Given the description of an element on the screen output the (x, y) to click on. 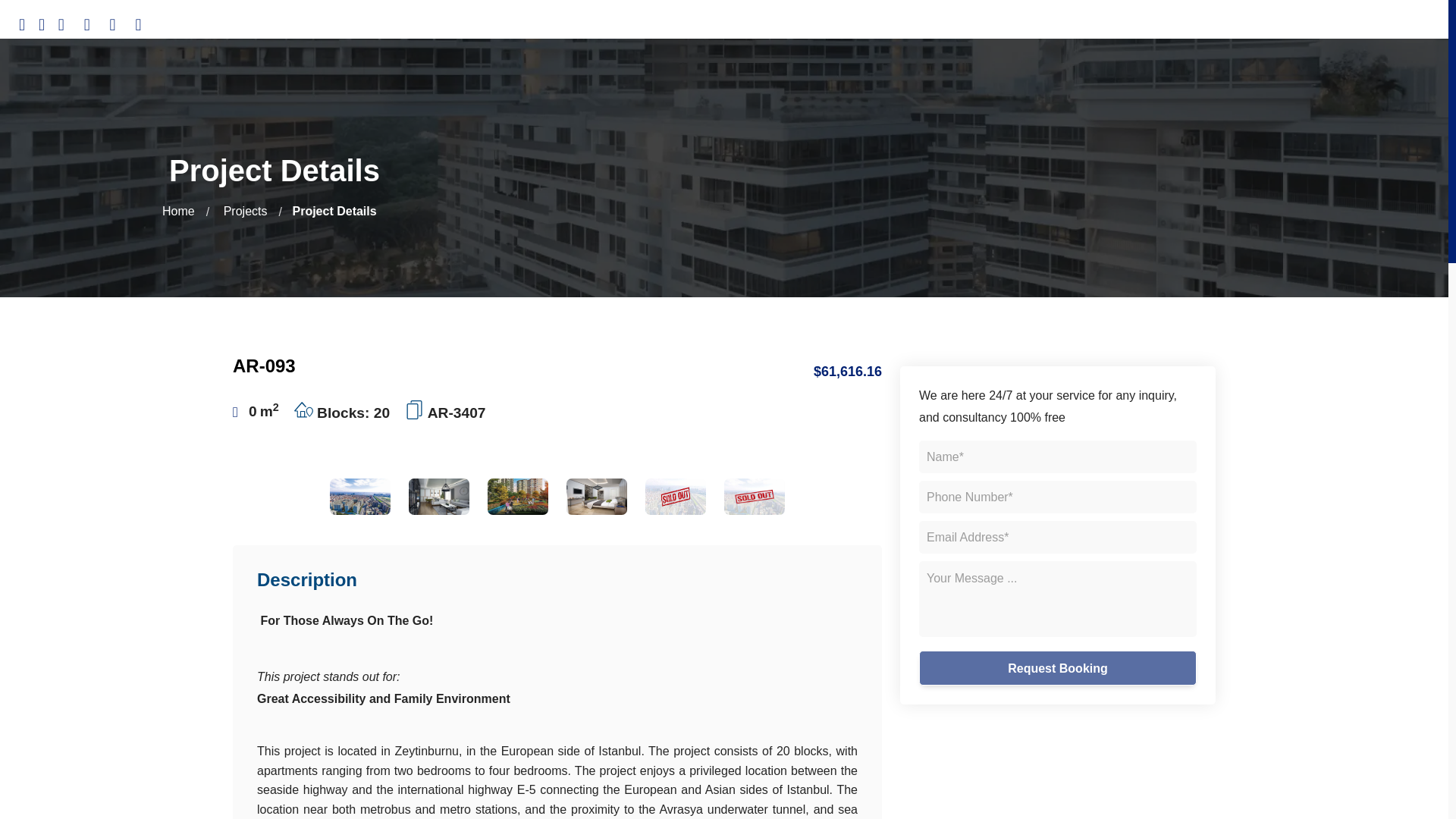
Request Booking (1057, 667)
Home (178, 211)
Projects (244, 211)
